Given the description of an element on the screen output the (x, y) to click on. 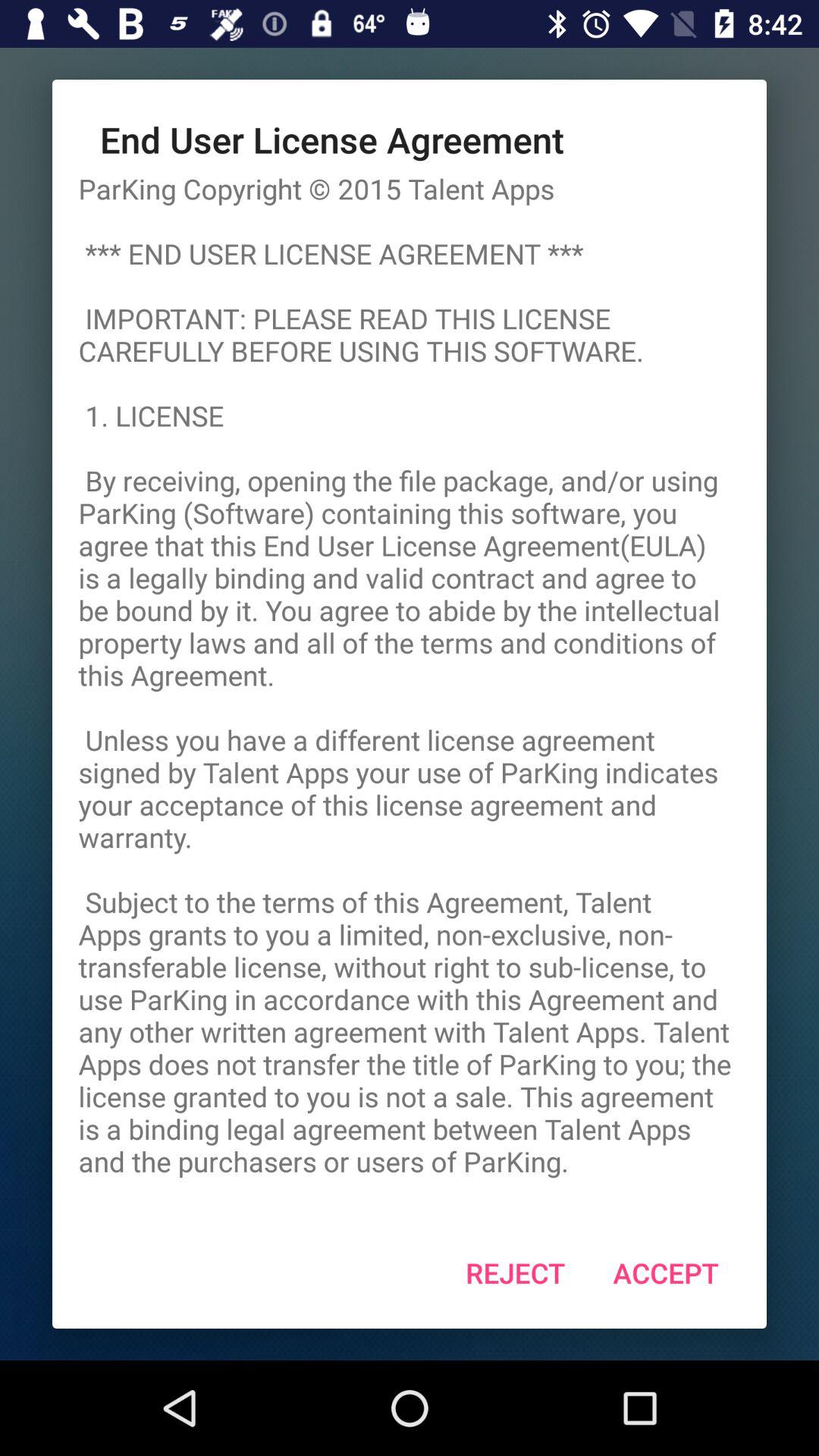
launch the app below parking copyright 2015 (515, 1272)
